Given the description of an element on the screen output the (x, y) to click on. 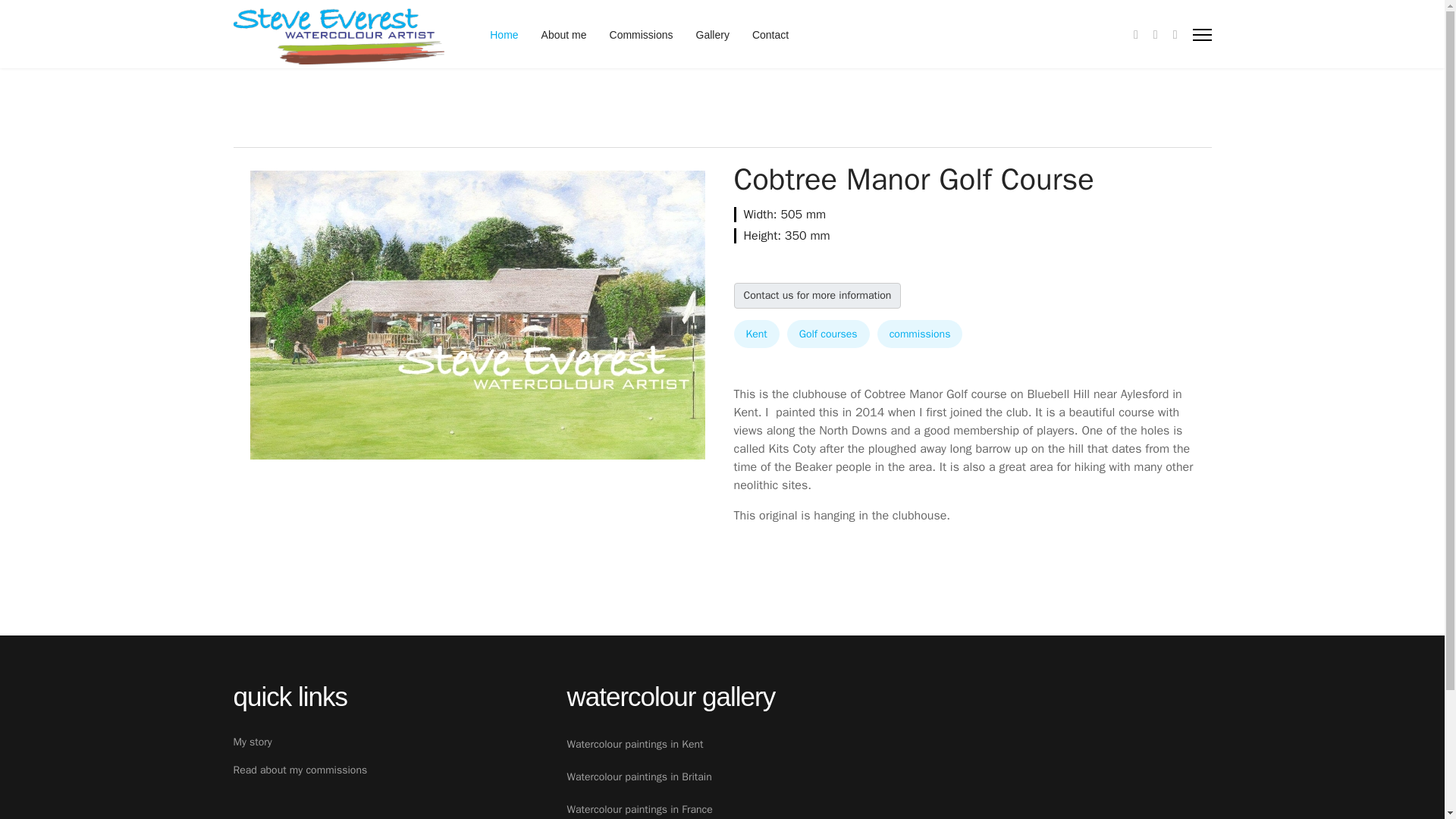
Contact us for more information (817, 295)
About me (563, 34)
Golf courses (828, 334)
Watercolour paintings in Britain (888, 776)
Read about my commissions (388, 770)
Kent (755, 334)
My story (388, 742)
Cobtree Manor Golf Course (477, 314)
Watercolour paintings in France (888, 809)
commissions (919, 334)
